Given the description of an element on the screen output the (x, y) to click on. 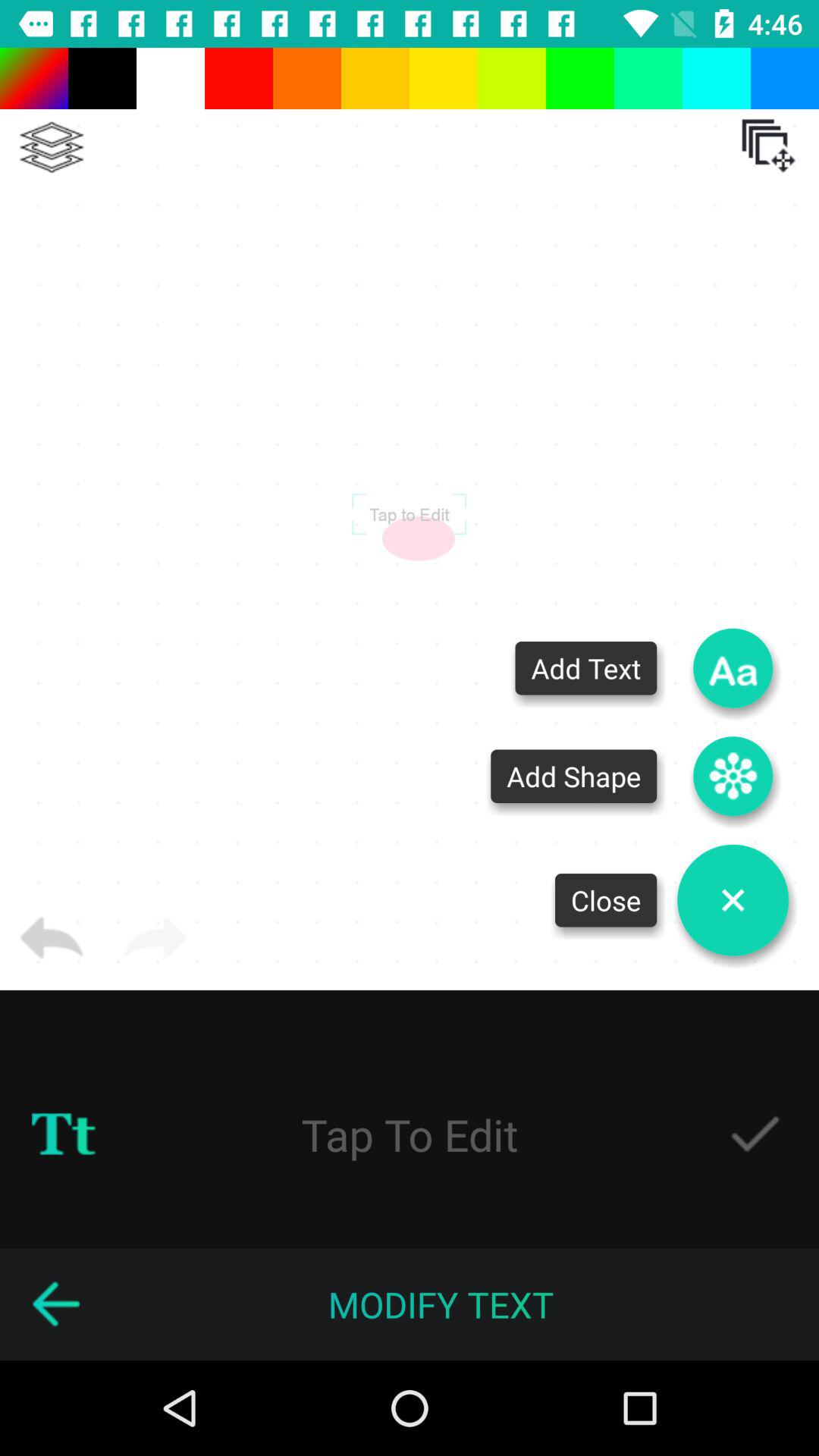
open the tab (768, 145)
